Given the description of an element on the screen output the (x, y) to click on. 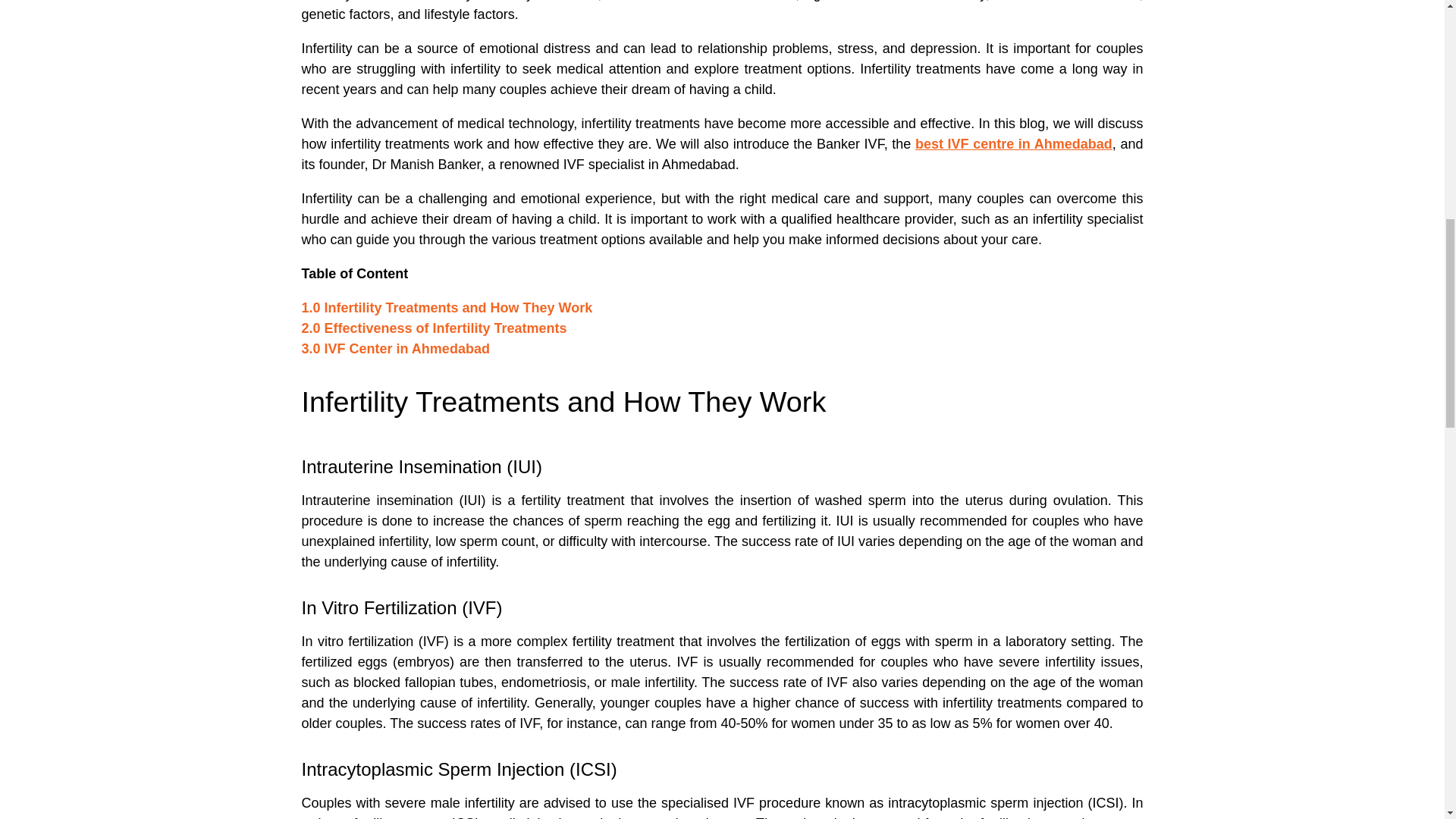
2.0 Effectiveness of Infertility Treatments (434, 328)
3.0 IVF Center in Ahmedabad (395, 348)
1.0 Infertility Treatments and How They Work (446, 307)
1.0 Infertility Treatments and How They Work (446, 307)
3.0 IVF Center in Ahmedabad (395, 348)
2.0 Effectiveness of Infertility Treatments (434, 328)
best IVF centre in Ahmedabad (1013, 143)
